Given the description of an element on the screen output the (x, y) to click on. 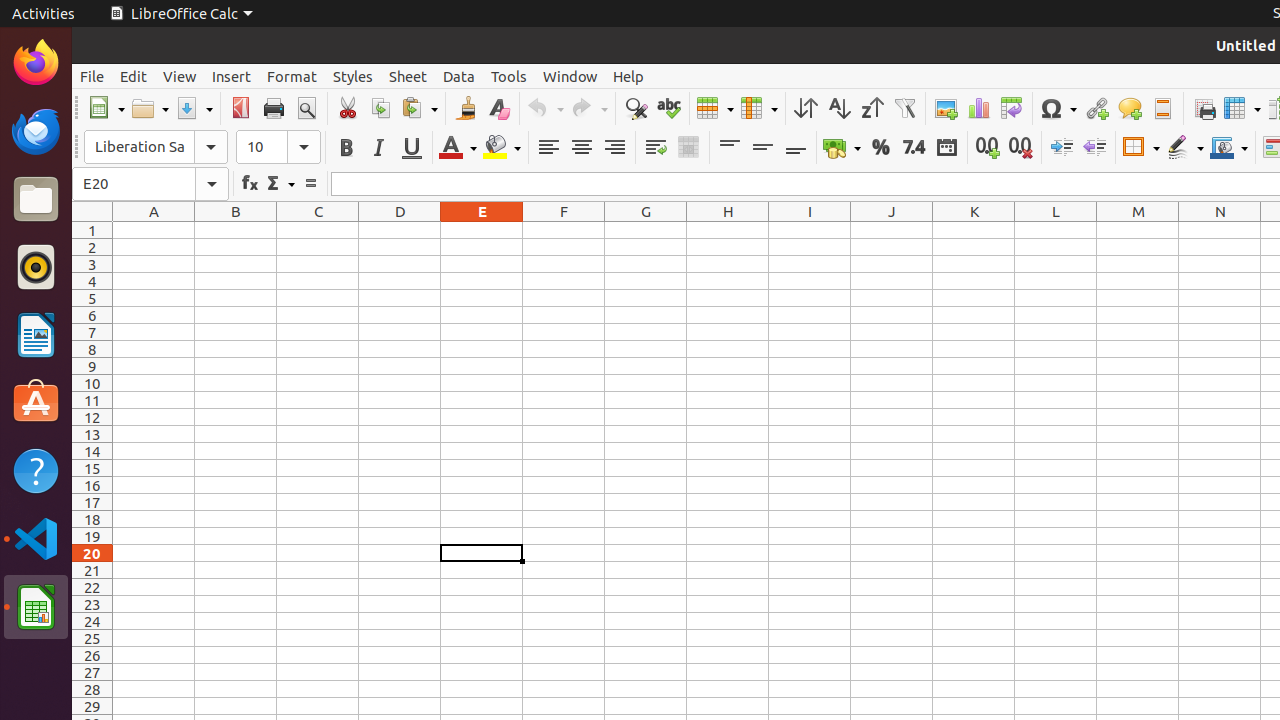
Clear Element type: push-button (498, 108)
LibreOffice Writer Element type: push-button (36, 334)
Image Element type: push-button (945, 108)
Align Right Element type: push-button (614, 147)
Wrap Text Element type: push-button (655, 147)
